Given the description of an element on the screen output the (x, y) to click on. 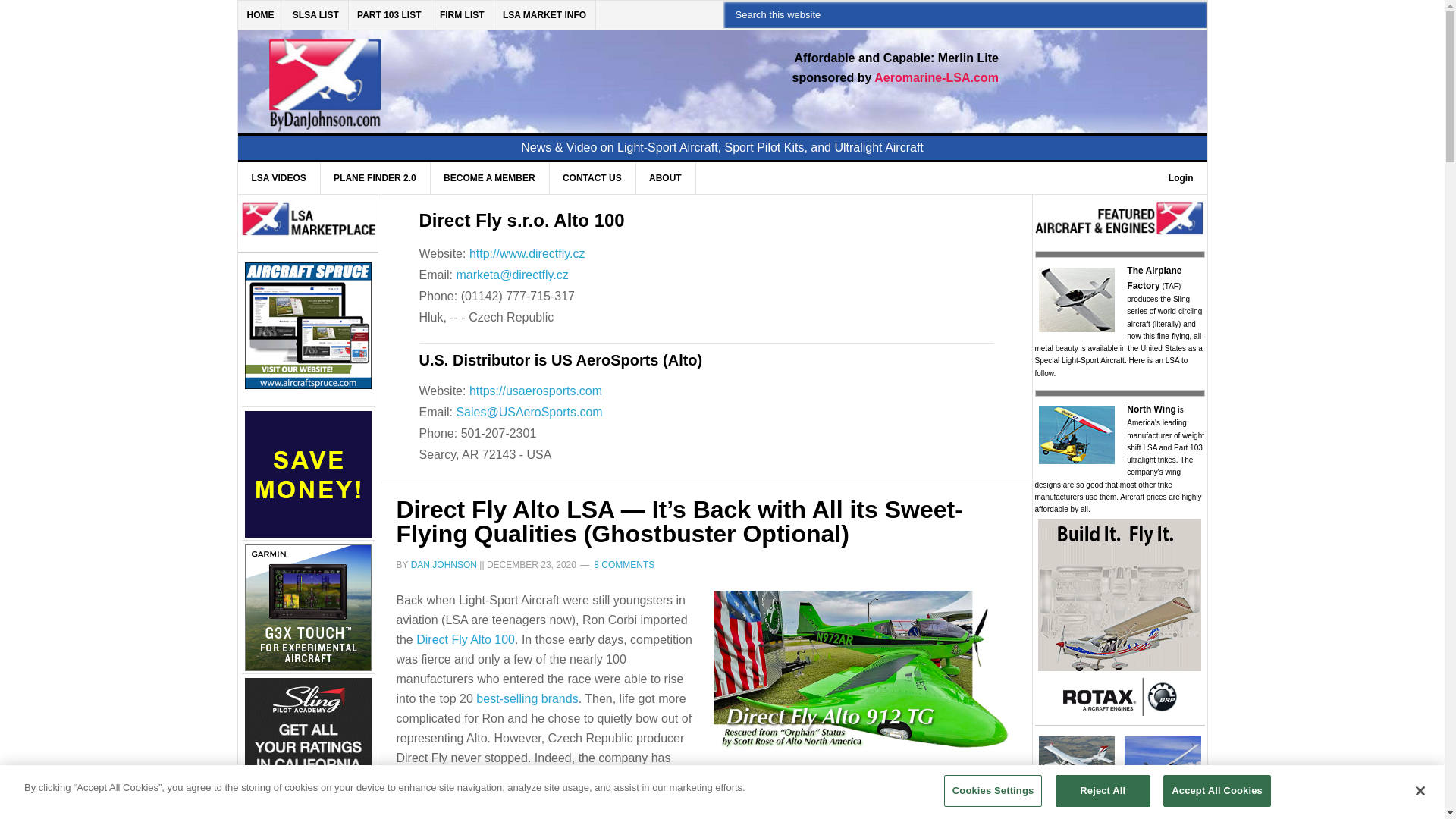
DAN JOHNSON (443, 564)
LSA VIDEOS (279, 178)
Login (1180, 178)
BYDANJOHNSON.COM (469, 73)
PART 103 LIST (388, 14)
LSA MARKET INFO (544, 14)
ABOUT (664, 178)
PLANE FINDER 2.0 (375, 178)
8 COMMENTS (623, 564)
SLSA LIST (316, 14)
BECOME A MEMBER (488, 178)
CONTACT US (592, 178)
HOME (260, 14)
